Given the description of an element on the screen output the (x, y) to click on. 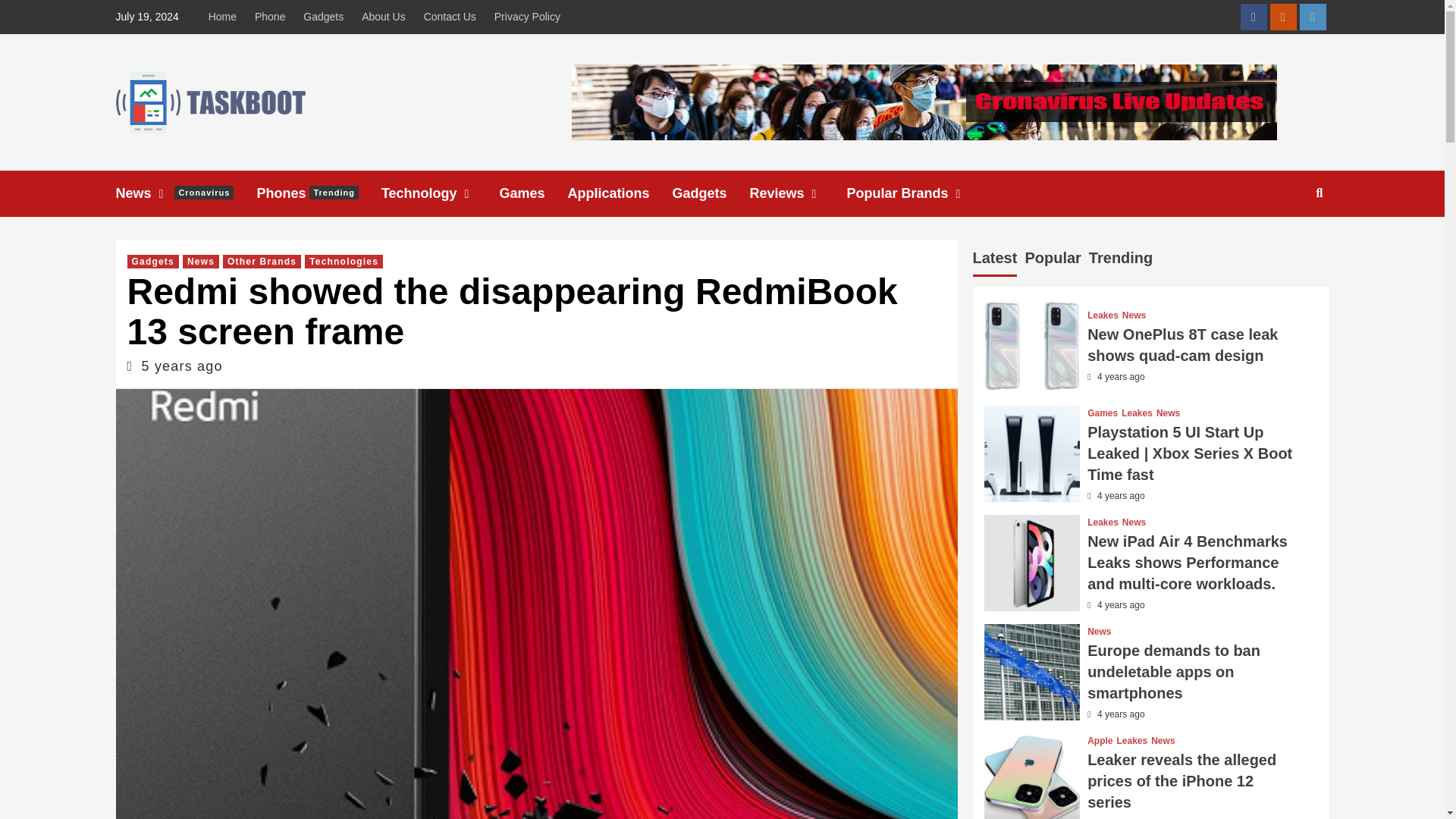
Applications (619, 193)
Twitter (1313, 17)
Gadgets (185, 193)
Games (710, 193)
Phone (533, 193)
About Us (269, 17)
Contact Us (383, 17)
Reviews (449, 17)
Facebook (798, 193)
Privacy Policy (1253, 17)
Home (318, 193)
Technology (526, 17)
Reddit (226, 17)
